Given the description of an element on the screen output the (x, y) to click on. 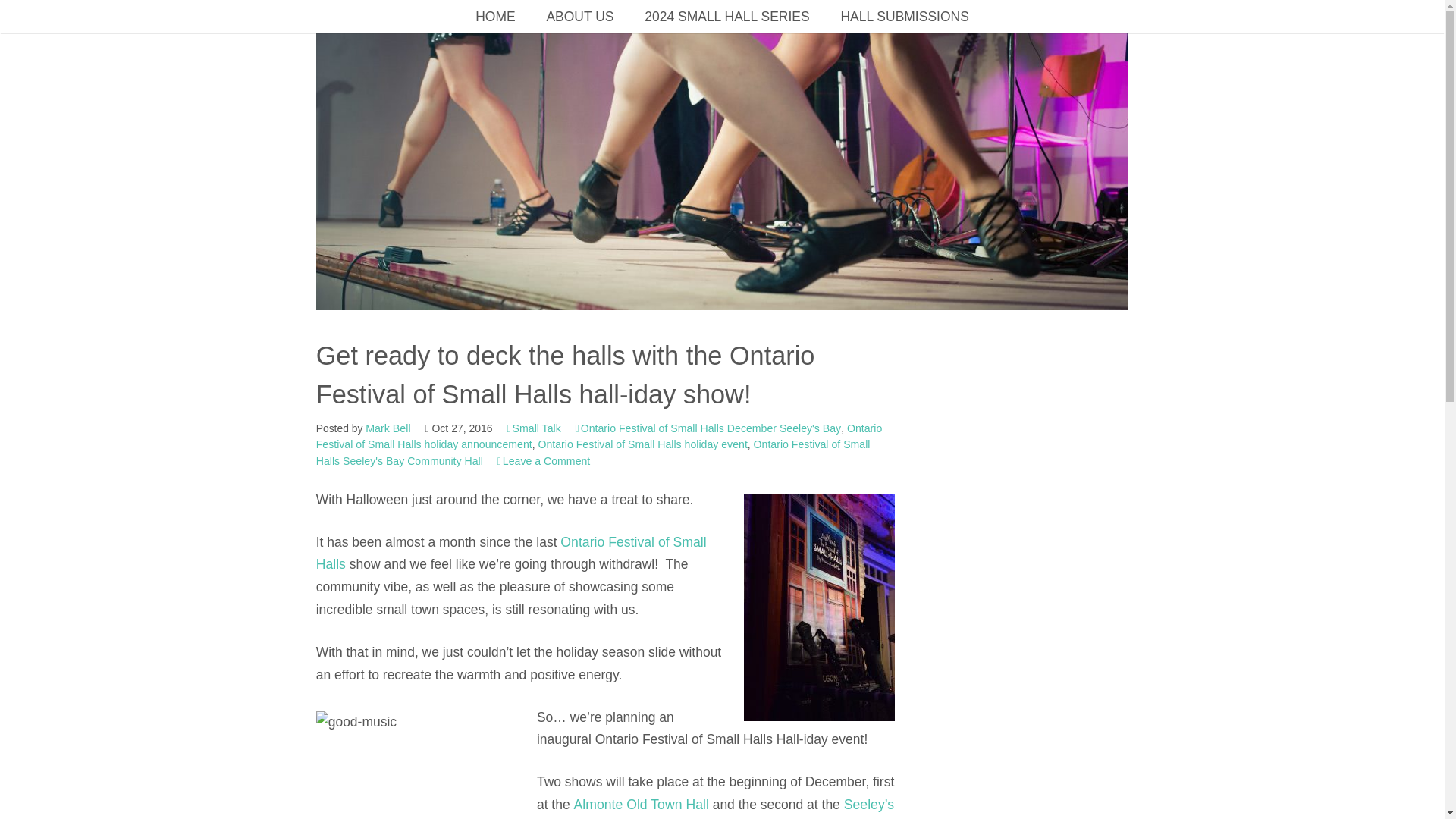
Ontario Festival of Small Halls holiday announcement (598, 436)
Posts by Mark Bell (387, 428)
Ontario Festival of Small Halls (510, 553)
Ontario Festival of Small Halls December Seeley's Bay (708, 428)
Mark Bell (387, 428)
HOME (494, 16)
Ontario Festival of Small Halls holiday event (641, 444)
Small Talk (533, 428)
HALL SUBMISSIONS (904, 16)
Almonte Old Town Hall (641, 804)
